Given the description of an element on the screen output the (x, y) to click on. 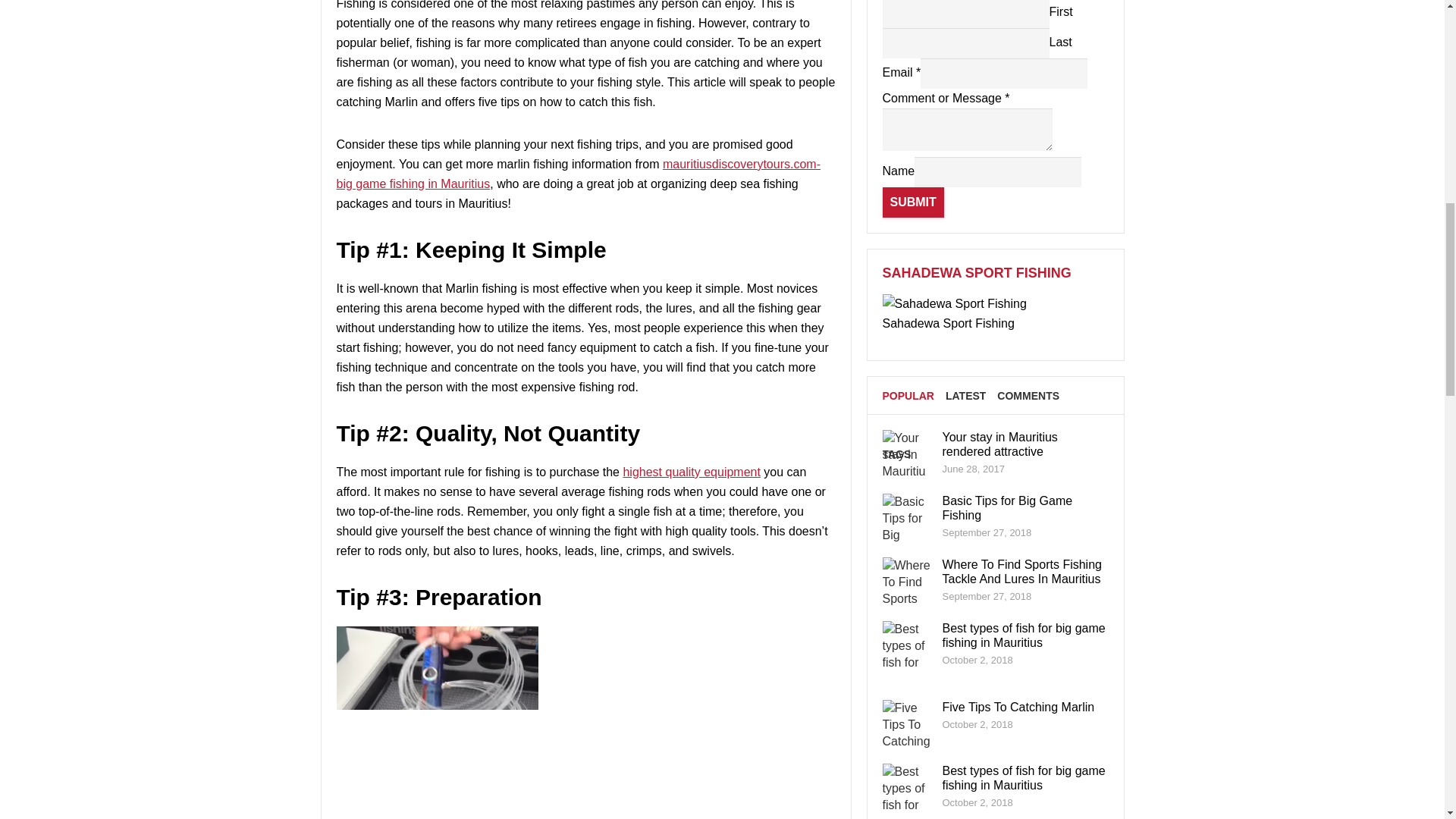
Latest (964, 395)
mauritiusdiscoverytours.com- big game fishing in Mauritius (578, 174)
Comments (1028, 395)
Popular (908, 395)
highest quality equipment (691, 472)
